Given the description of an element on the screen output the (x, y) to click on. 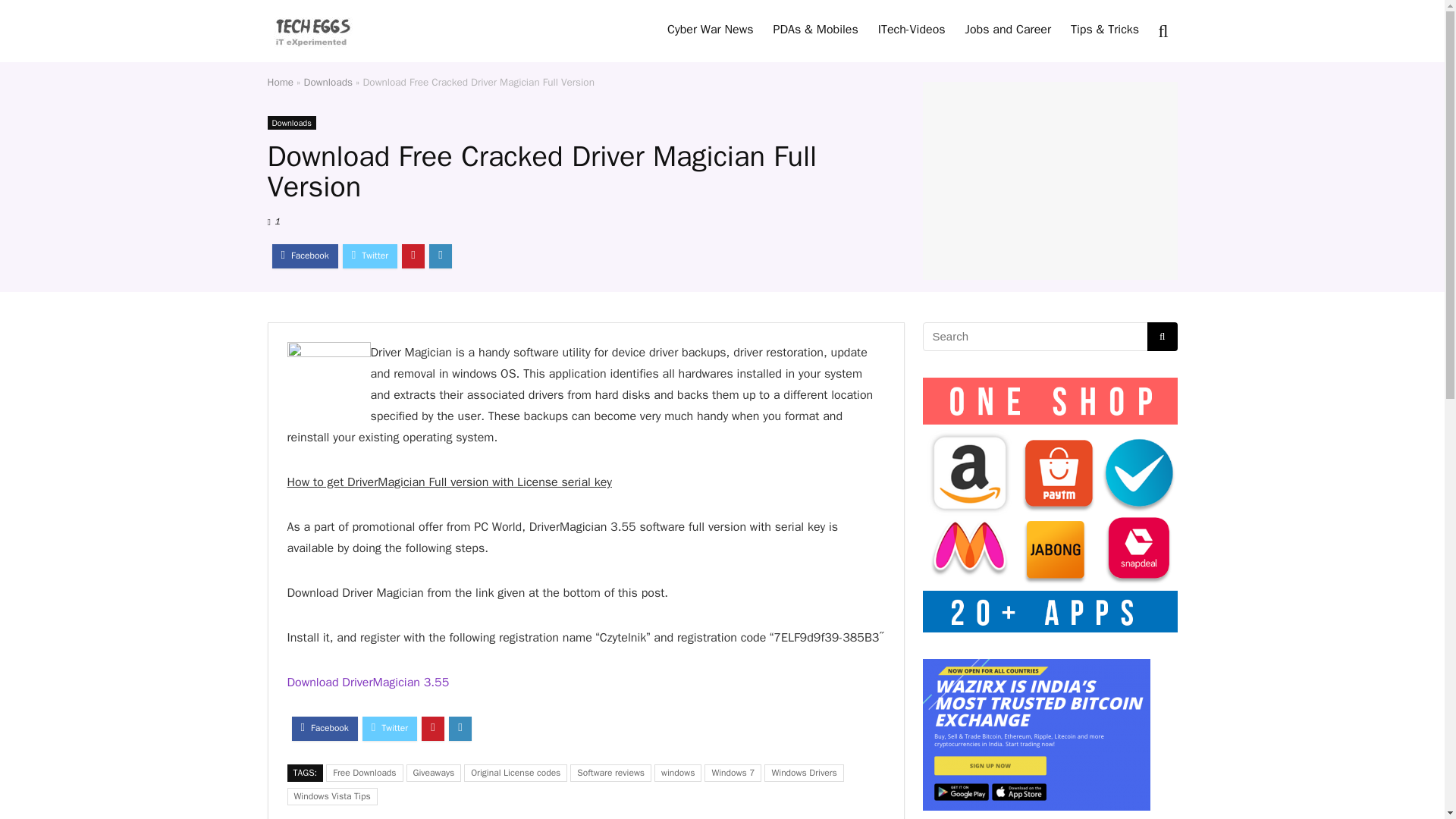
Download DriverMagician 3.55 (367, 682)
Downloads (328, 82)
Home (280, 82)
Jobs and Career (1008, 30)
ITech-Videos (911, 30)
Downloads (290, 122)
windows (677, 773)
Original License codes (515, 773)
Windows Vista Tips (331, 796)
Windows Drivers (803, 773)
